Given the description of an element on the screen output the (x, y) to click on. 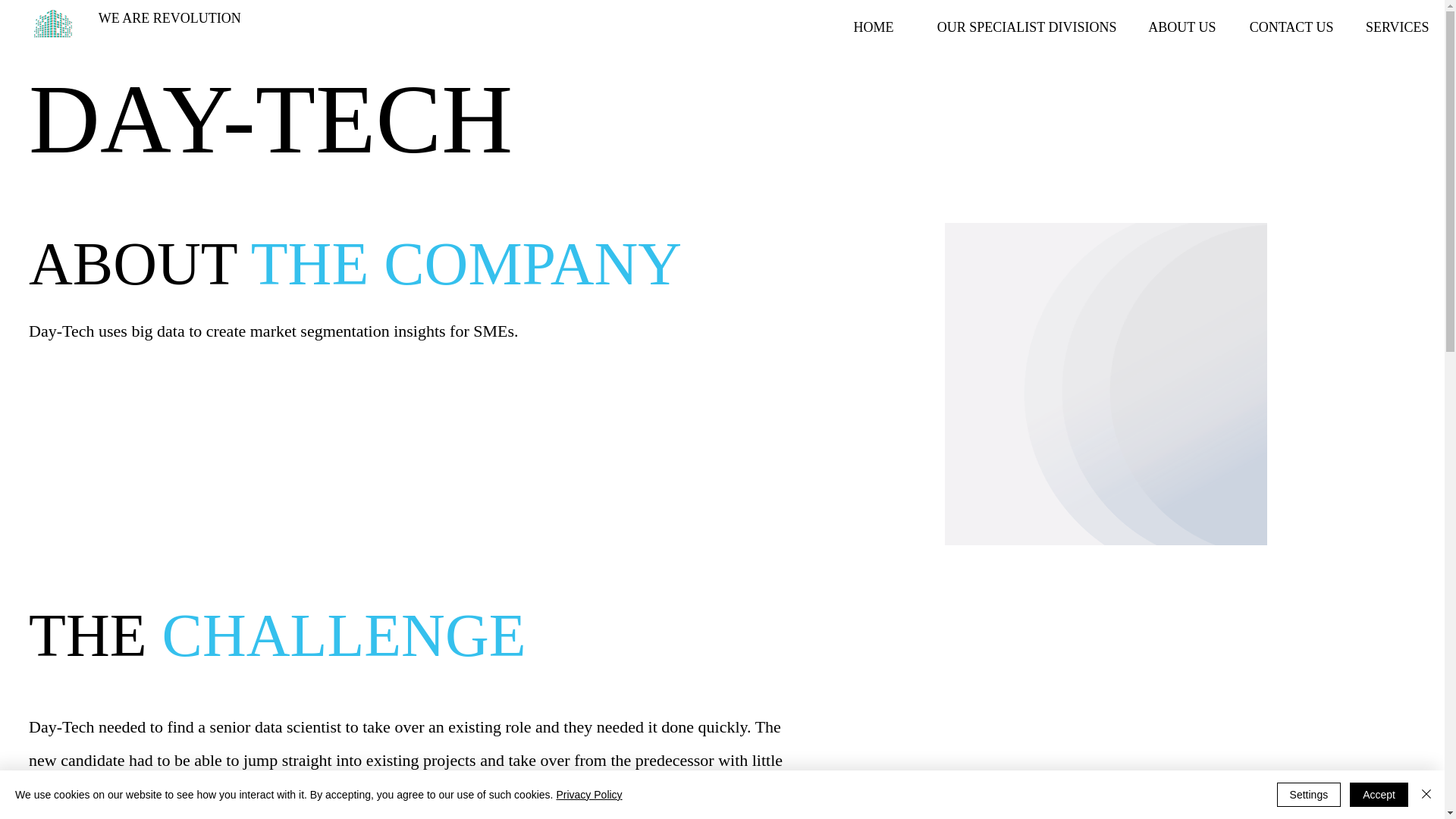
Accept (1378, 794)
ABOUT US (1177, 27)
Privacy Policy (588, 794)
CONTACT US (1286, 27)
SERVICES (1393, 27)
Settings (1308, 794)
HOME (871, 27)
